Given the description of an element on the screen output the (x, y) to click on. 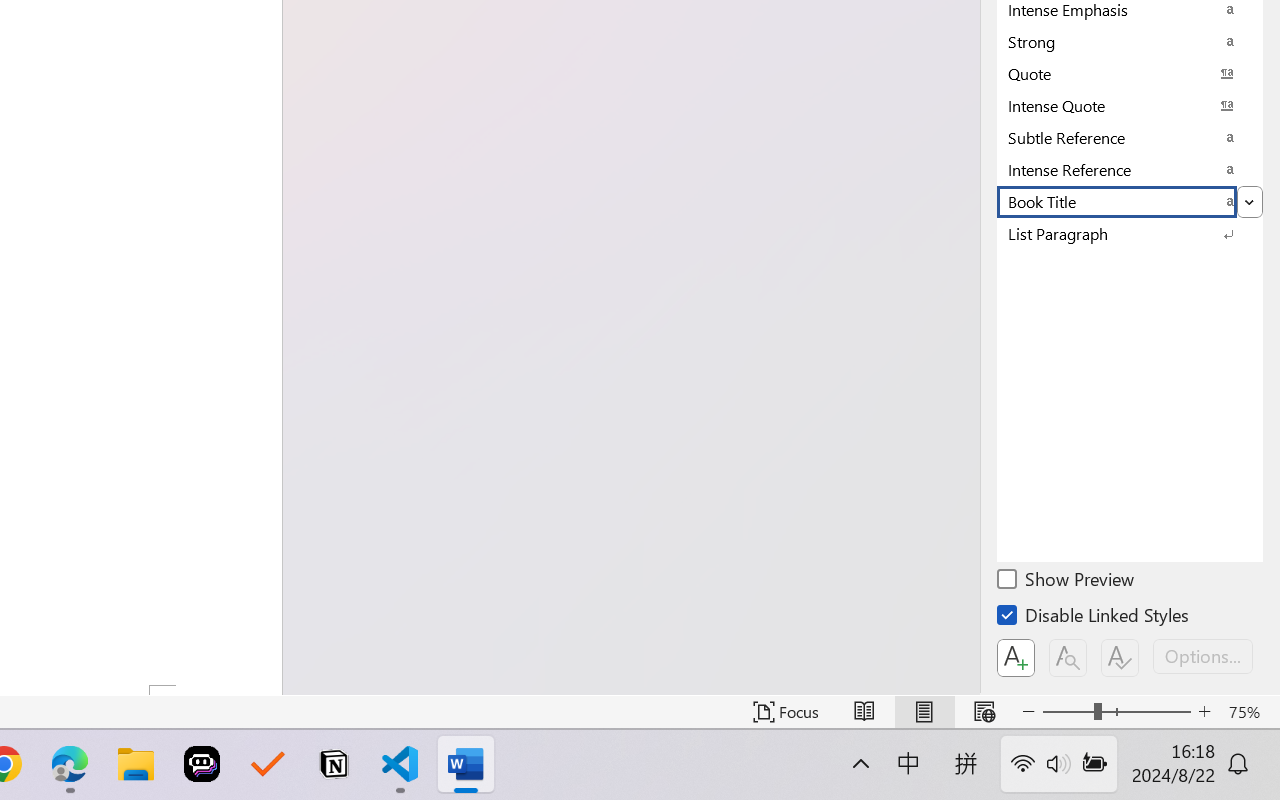
Class: NetUIButton (1119, 657)
Quote (1130, 73)
